Given the description of an element on the screen output the (x, y) to click on. 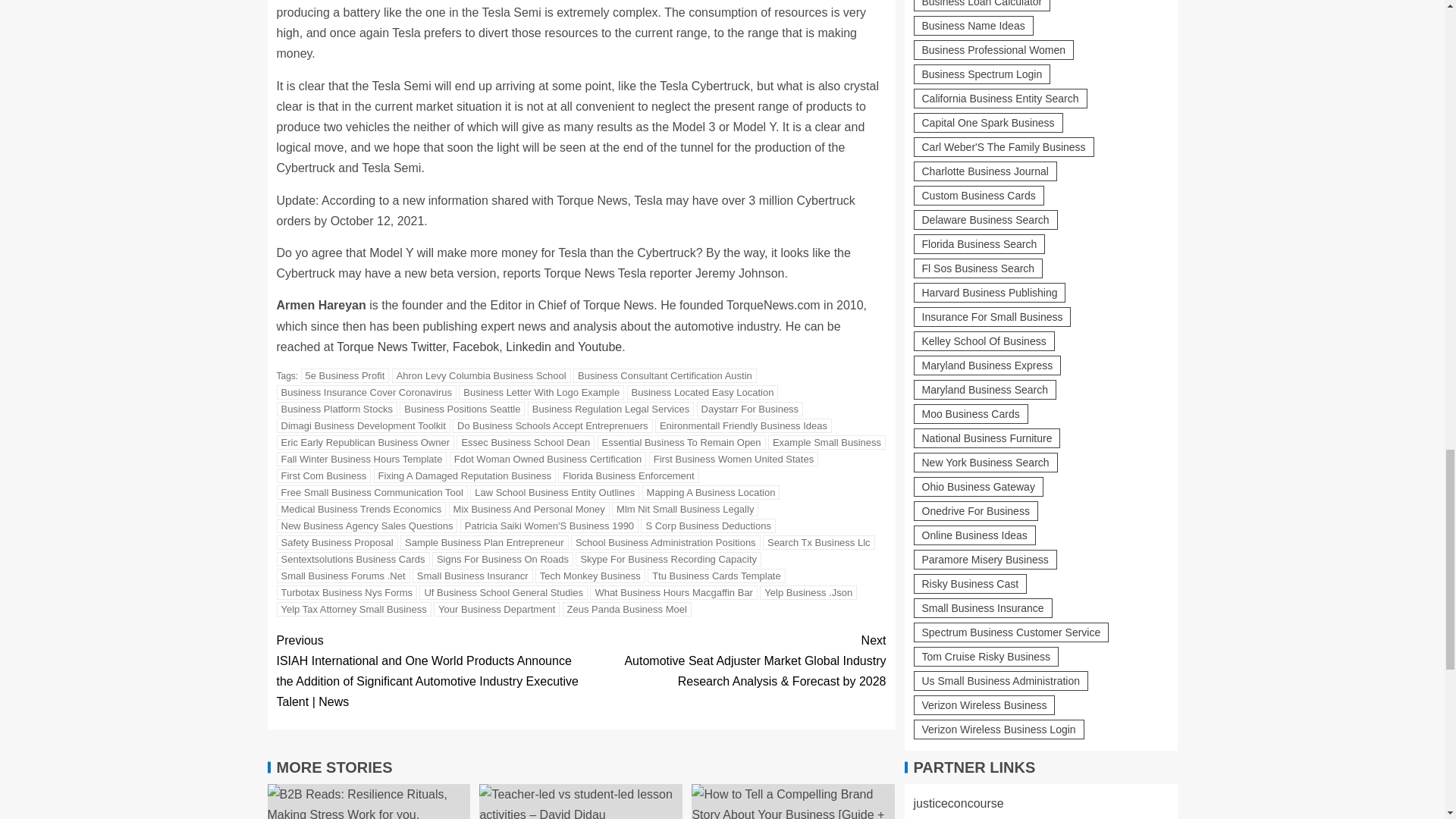
Dimagi Business Development Toolkit (362, 425)
Business Insurance Cover Coronavirus (365, 391)
Torque News Twitter (390, 346)
Business Platform Stocks (336, 409)
Facebok (475, 346)
5e Business Profit (345, 375)
Daystarr For Business (750, 409)
Ahron Levy Columbia Business School (480, 375)
Business Letter With Logo Example (541, 391)
Linkedin (528, 346)
Seedbacklink (925, 730)
Business Located Easy Location (702, 391)
Business Consultant Certification Austin (665, 375)
Youtube (599, 346)
